Given the description of an element on the screen output the (x, y) to click on. 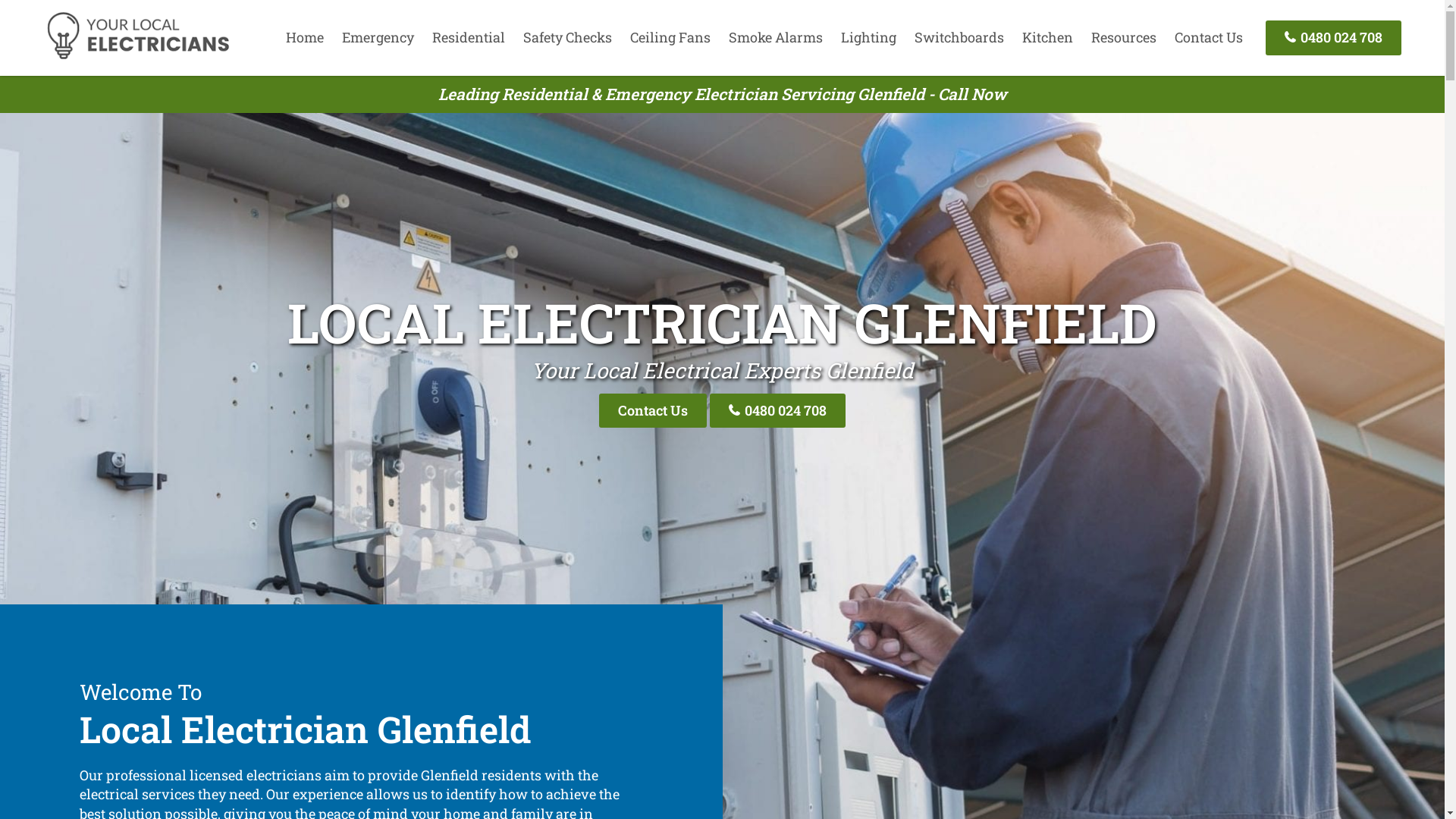
Emergency Element type: text (377, 37)
Safety Checks Element type: text (567, 37)
Kitchen Element type: text (1047, 37)
Residential Element type: text (468, 37)
Resources Element type: text (1123, 37)
0480 024 708 Element type: text (777, 410)
Smoke Alarms Element type: text (775, 37)
Contact Us Element type: text (652, 410)
0480 024 708 Element type: text (1333, 37)
Ceiling Fans Element type: text (670, 37)
Home Element type: text (304, 37)
Switchboards Element type: text (958, 37)
Contact Us Element type: text (1208, 37)
Lighting Element type: text (868, 37)
Electricians Element type: hover (137, 56)
